Given the description of an element on the screen output the (x, y) to click on. 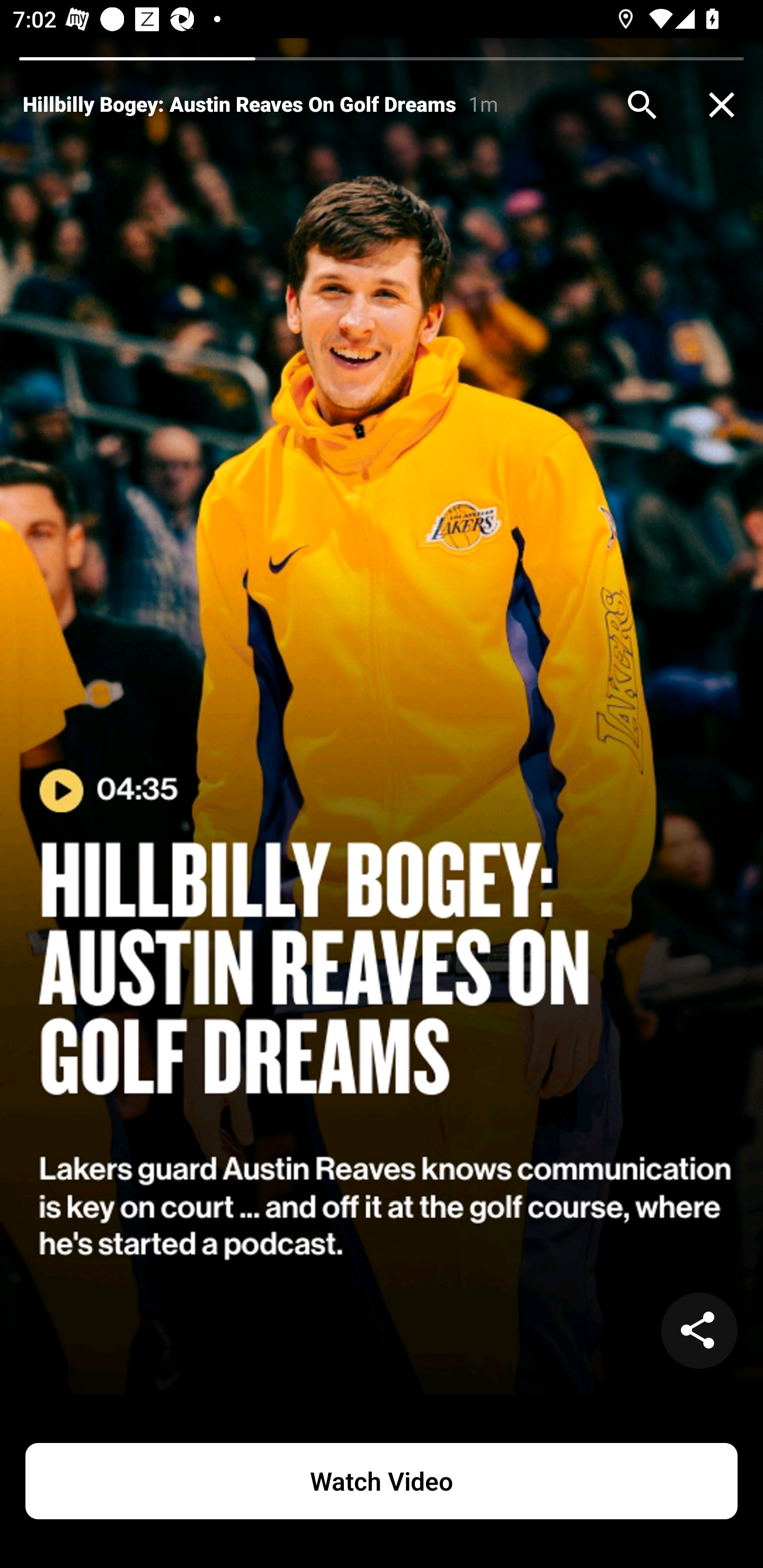
search (642, 104)
close (721, 104)
share (699, 1330)
Watch Video (381, 1480)
